Given the description of an element on the screen output the (x, y) to click on. 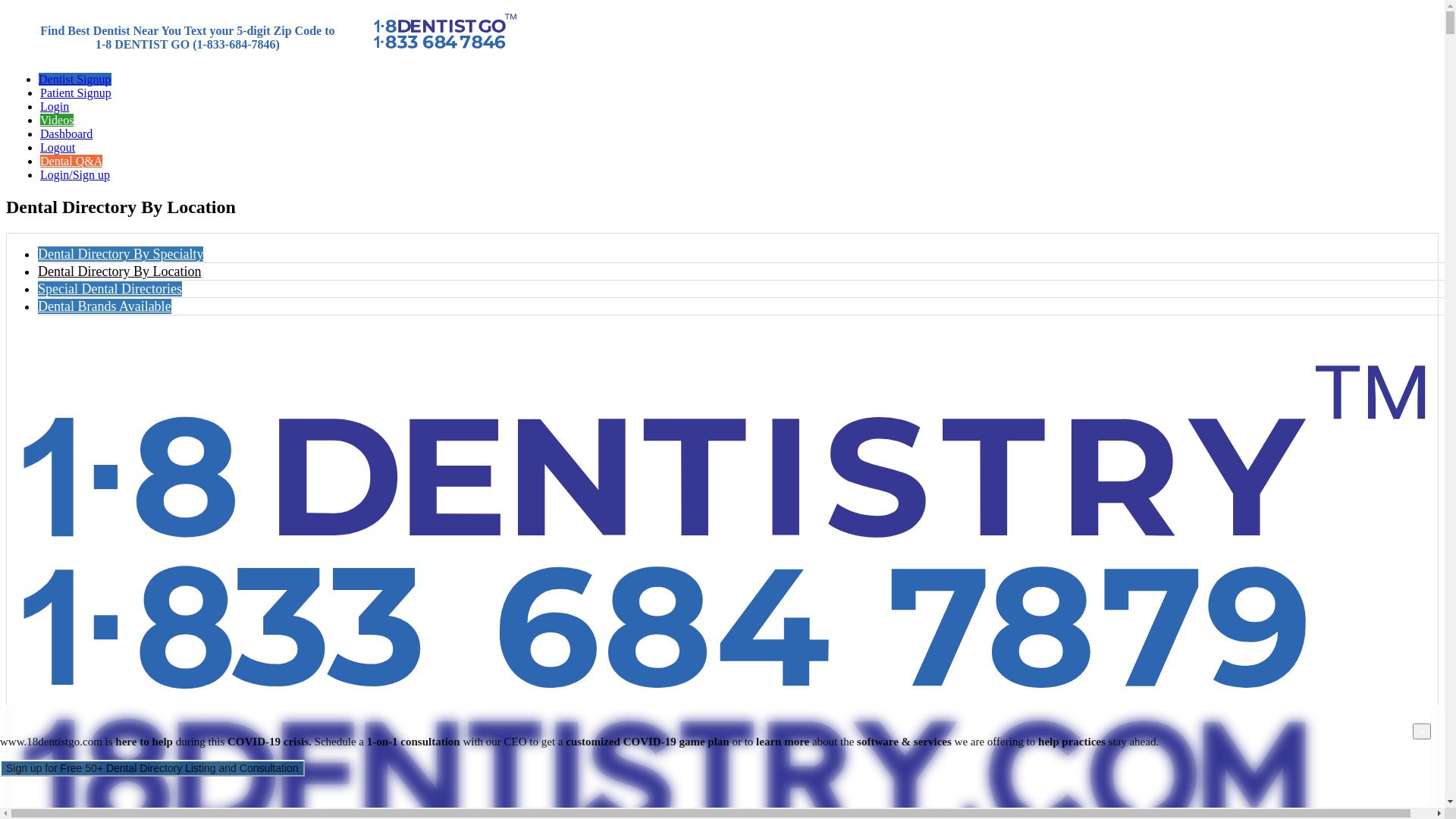
Login/Sign up Element type: text (74, 174)
Videos Element type: text (56, 119)
Logout Element type: text (57, 147)
Dental Brands Available Element type: text (104, 305)
Dentist Signup Element type: text (74, 78)
Special Dental Directories Element type: text (109, 288)
Dental Q&A Element type: text (71, 160)
Dental Directory By Specialty Element type: text (120, 253)
Dental Directory By Location Element type: text (118, 271)
Dashboard Element type: text (66, 133)
Patient Signup Element type: text (75, 92)
Login Element type: text (54, 106)
